Given the description of an element on the screen output the (x, y) to click on. 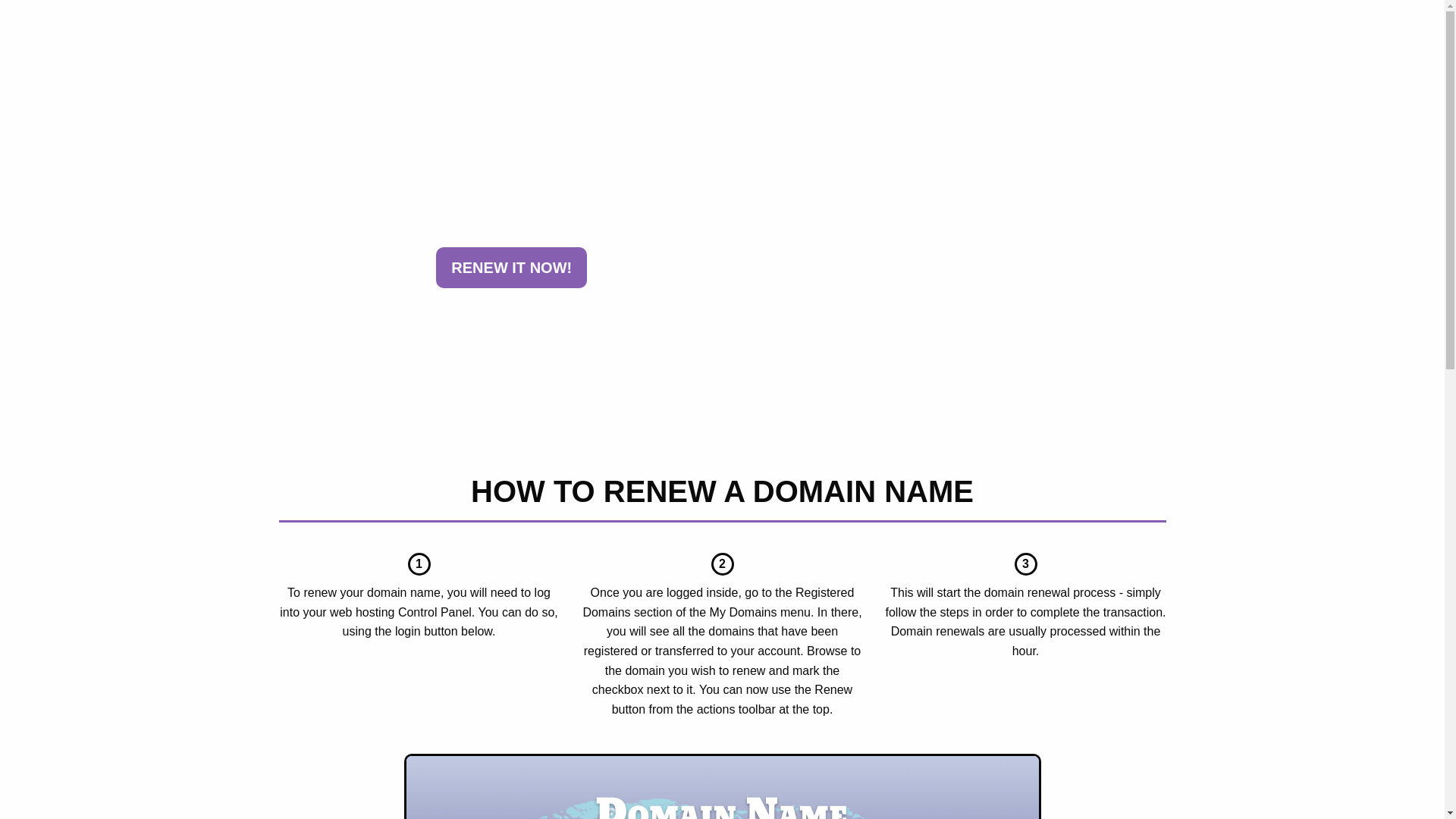
RENEW IT NOW! (510, 267)
Renew It NOW! (510, 267)
